Given the description of an element on the screen output the (x, y) to click on. 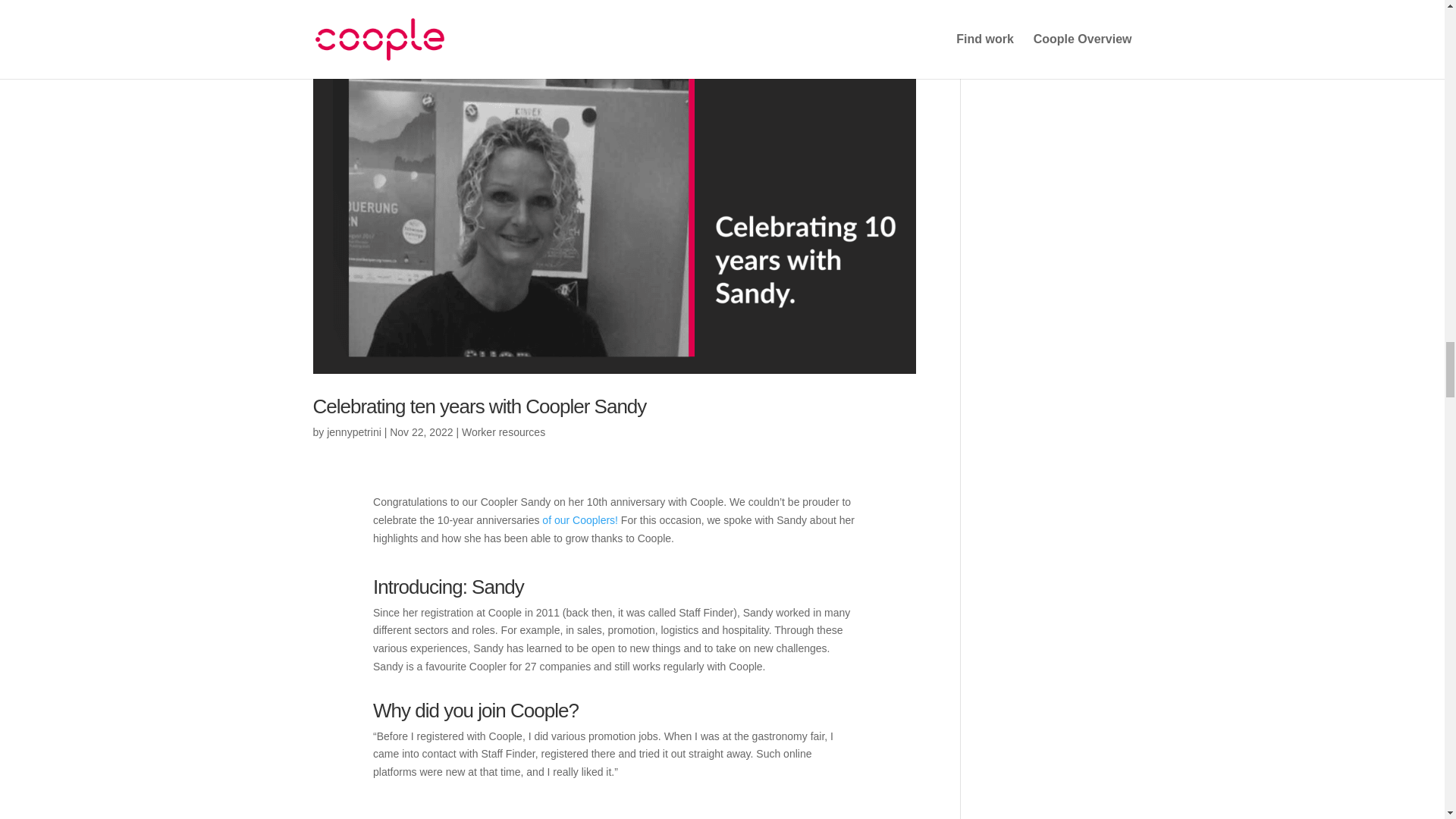
of our Cooplers! (579, 520)
Celebrating ten years with Coopler Sandy (479, 405)
jennypetrini (353, 431)
Posts by jennypetrini (353, 431)
Worker resources (502, 431)
